Given the description of an element on the screen output the (x, y) to click on. 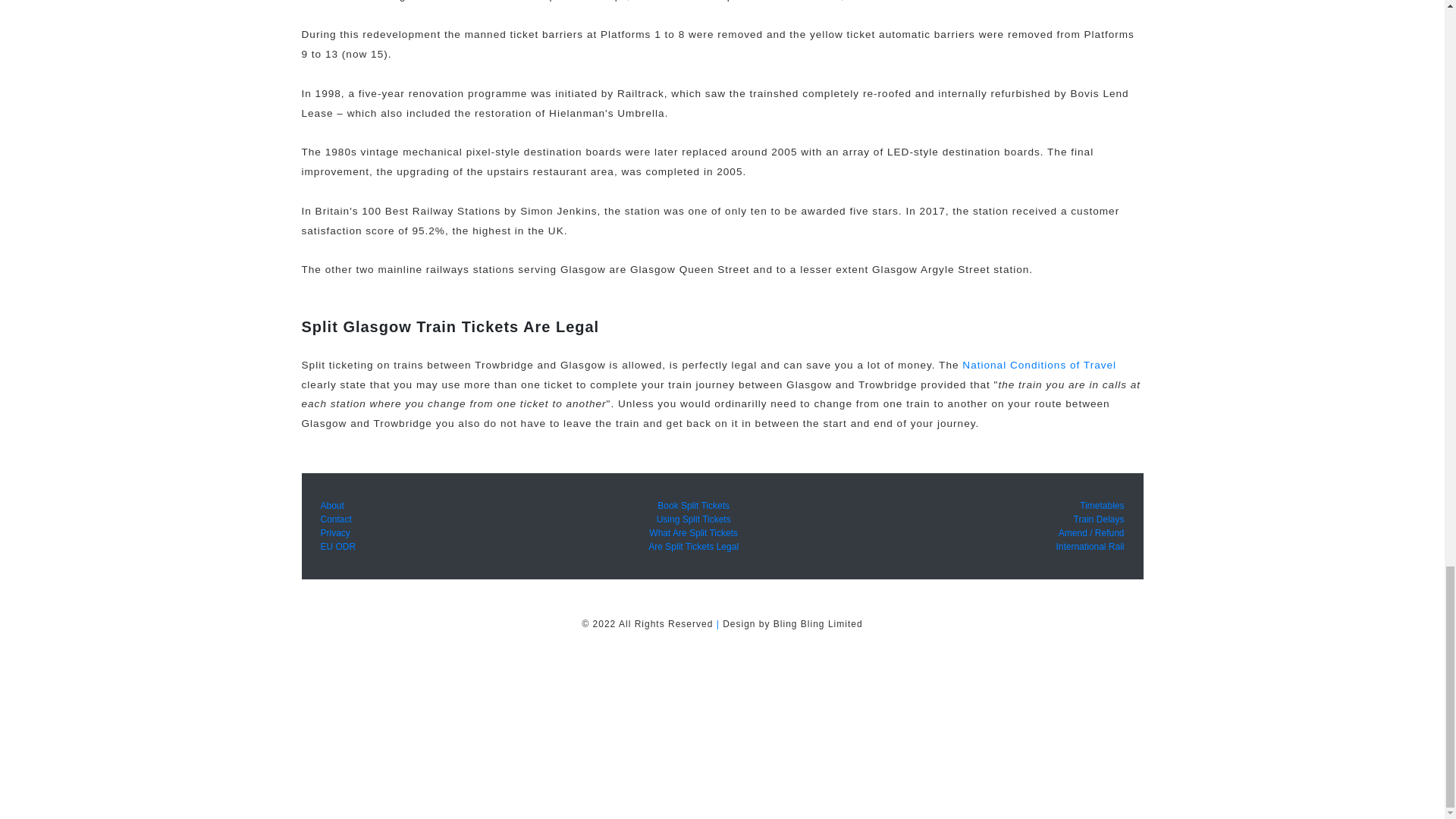
Train Delays (1099, 519)
Timetables (1102, 505)
International Rail (1089, 546)
Are Split Tickets Legal (692, 546)
About (331, 505)
What Are Split Tickets (693, 532)
Book Split Tickets (693, 505)
National Conditions of Travel (1039, 365)
Contact (335, 519)
Privacy (334, 532)
EU ODR (337, 546)
Using Split Tickets (693, 519)
